Given the description of an element on the screen output the (x, y) to click on. 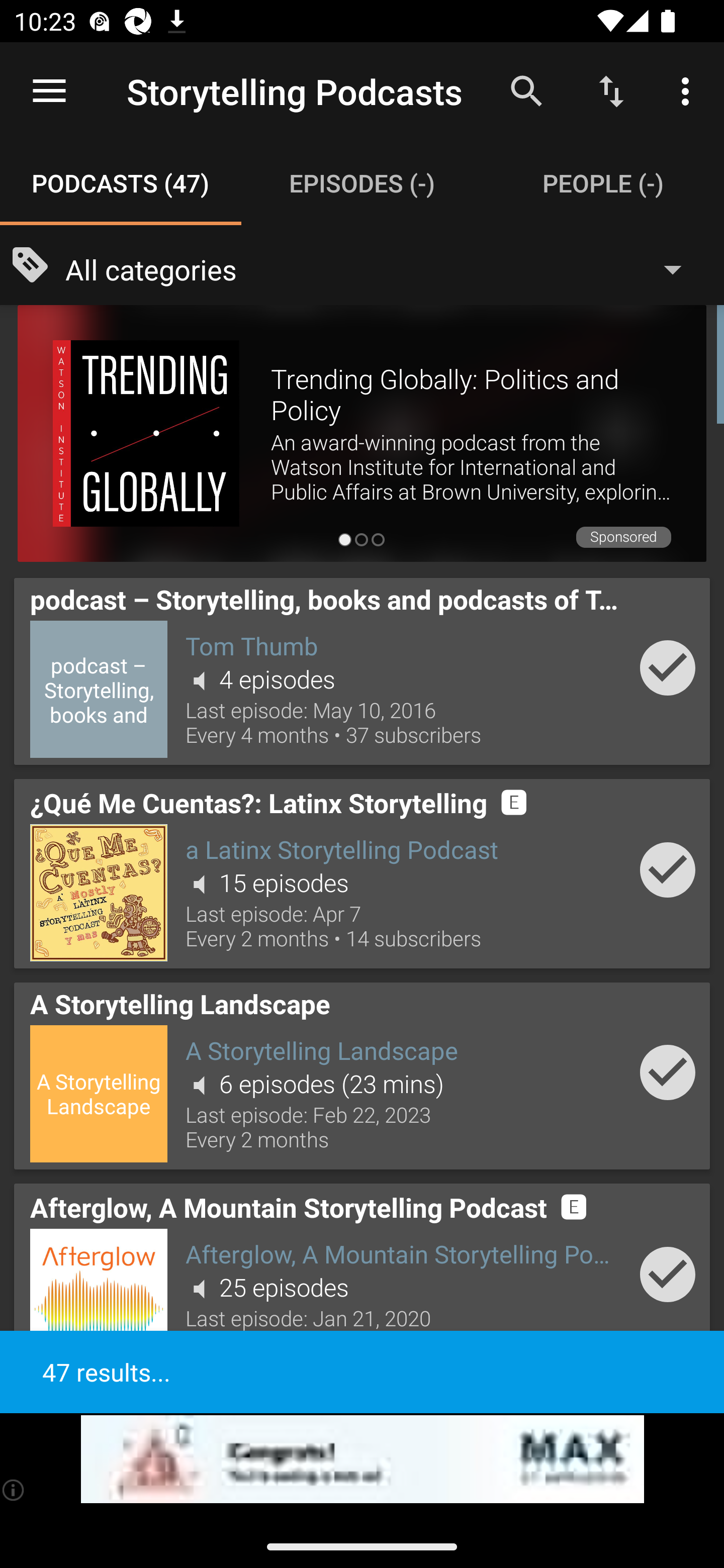
Open navigation sidebar (49, 91)
Search (526, 90)
Sort (611, 90)
More options (688, 90)
Episodes (-) EPISODES (-) (361, 183)
People (-) PEOPLE (-) (603, 183)
All categories (383, 268)
Add (667, 667)
Add (667, 869)
Add (667, 1072)
Add (667, 1274)
app-monetization (362, 1459)
(i) (14, 1489)
